Given the description of an element on the screen output the (x, y) to click on. 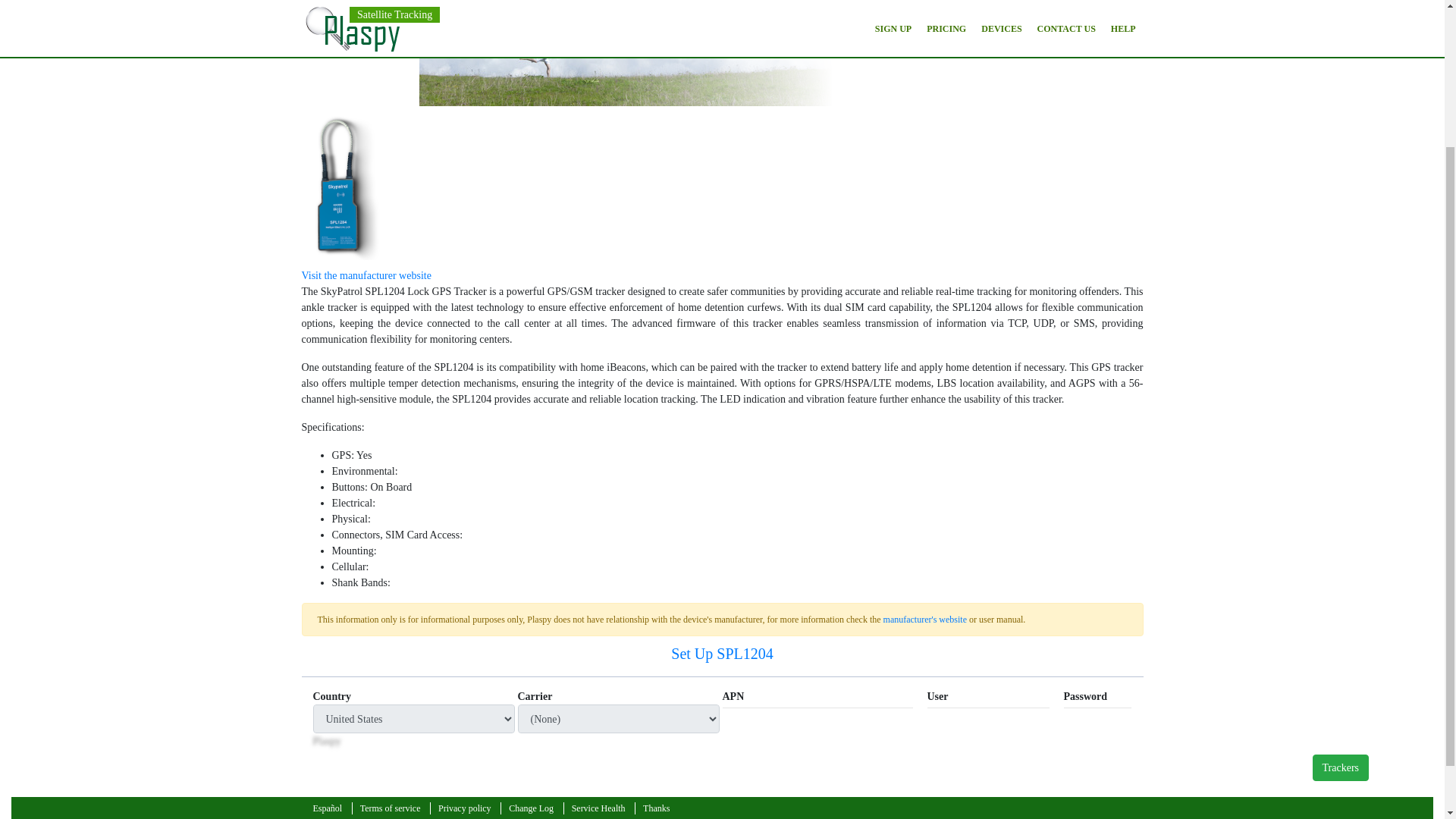
Change Log (530, 808)
Service Health (598, 808)
Demo (822, 41)
Trackers (1340, 587)
Thanks (655, 808)
Privacy policy (464, 808)
manufacturer's website (924, 619)
Trackers (1340, 587)
Visit the manufacturer website (365, 275)
Terms of service (390, 808)
Start Your Free Month (710, 40)
